Given the description of an element on the screen output the (x, y) to click on. 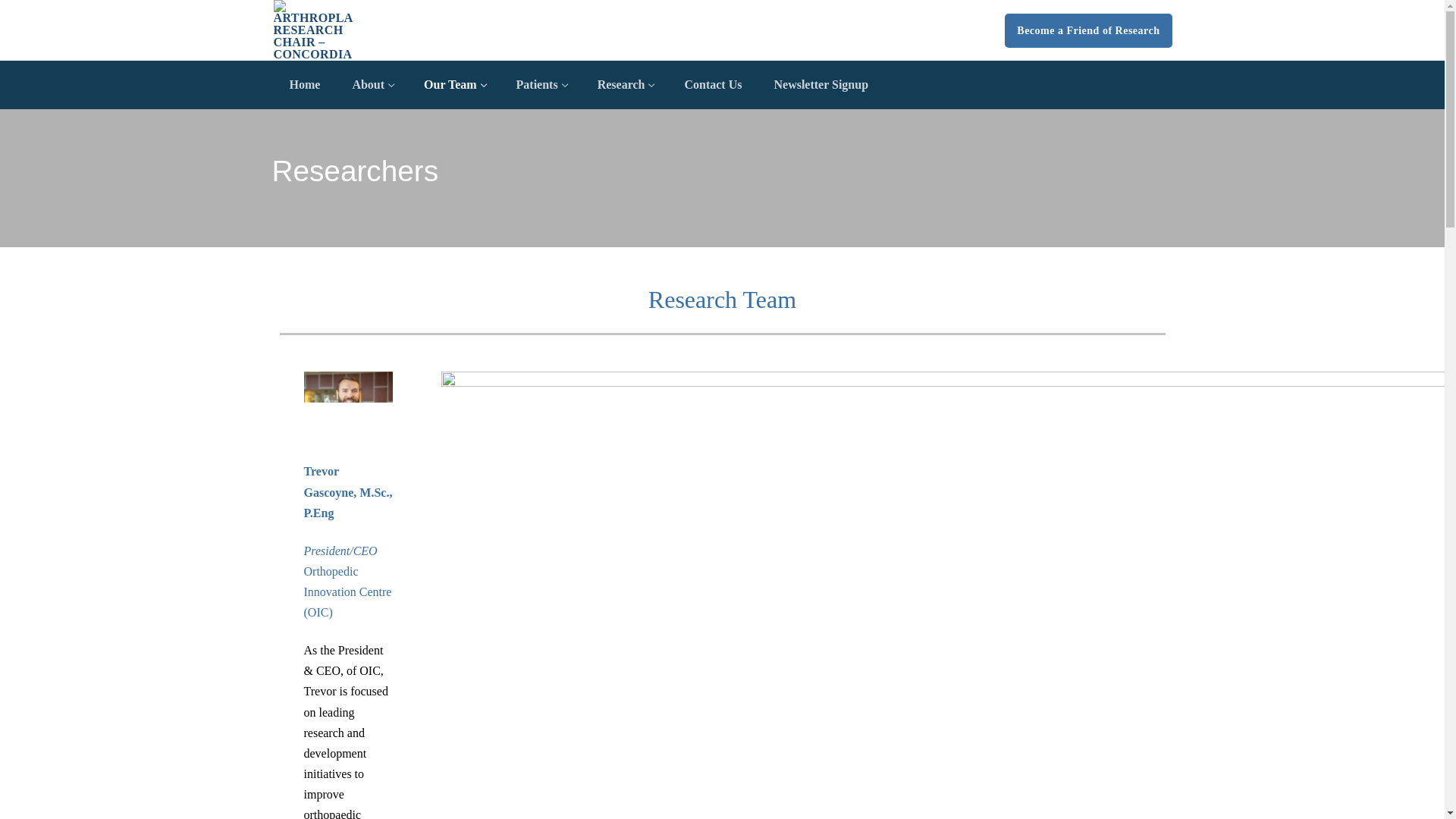
Become a Friend of Research (1088, 30)
Contact Us (540, 84)
Home (454, 84)
Newsletter Signup (712, 84)
